Given the description of an element on the screen output the (x, y) to click on. 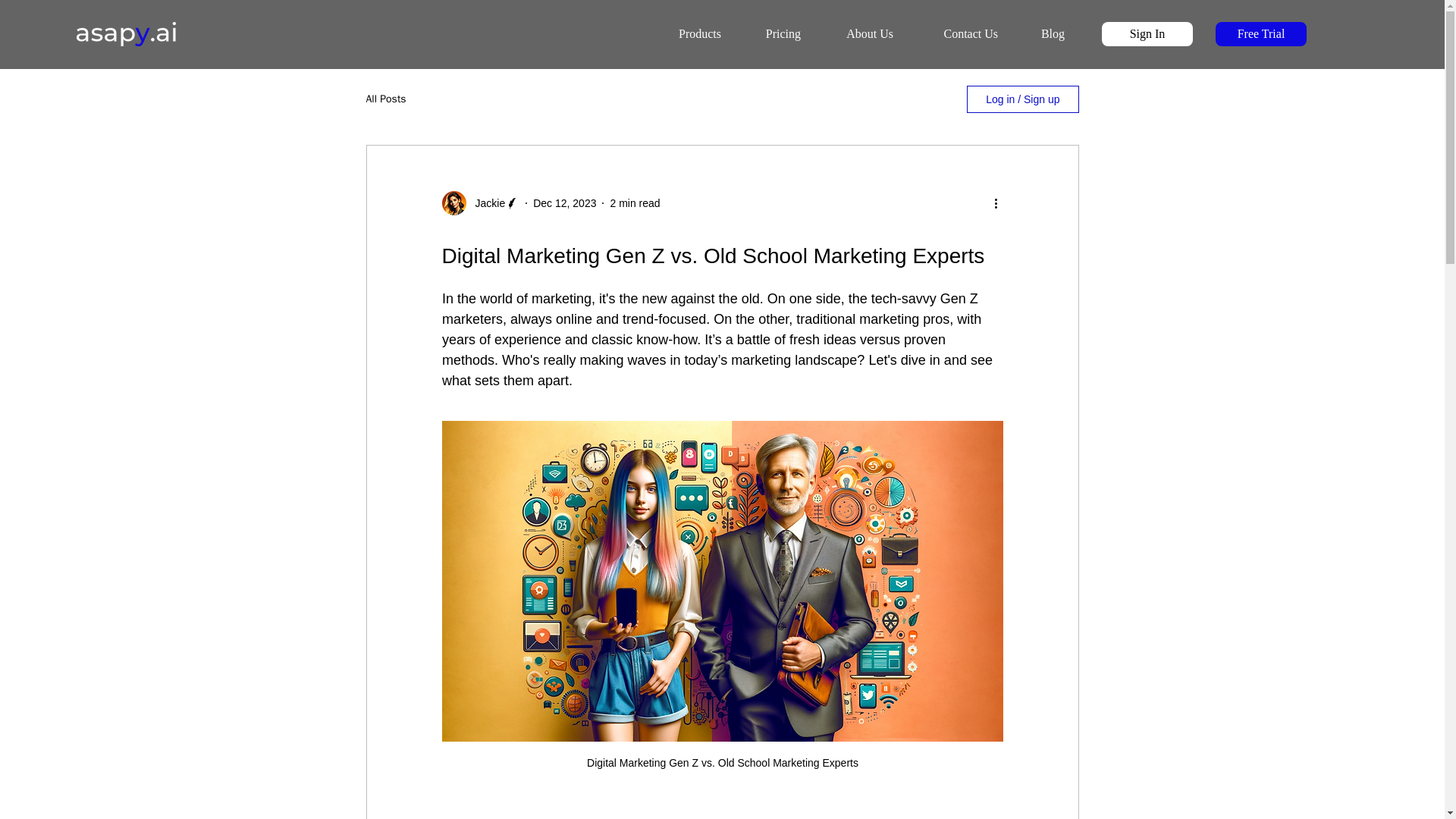
Dec 12, 2023 (563, 203)
All Posts (385, 99)
Blog (1042, 34)
Free Trial (1260, 33)
Sign In (1147, 33)
Contact Us (956, 34)
About Us (858, 34)
Jackie (485, 203)
2 min read (634, 203)
Pricing (772, 34)
